Given the description of an element on the screen output the (x, y) to click on. 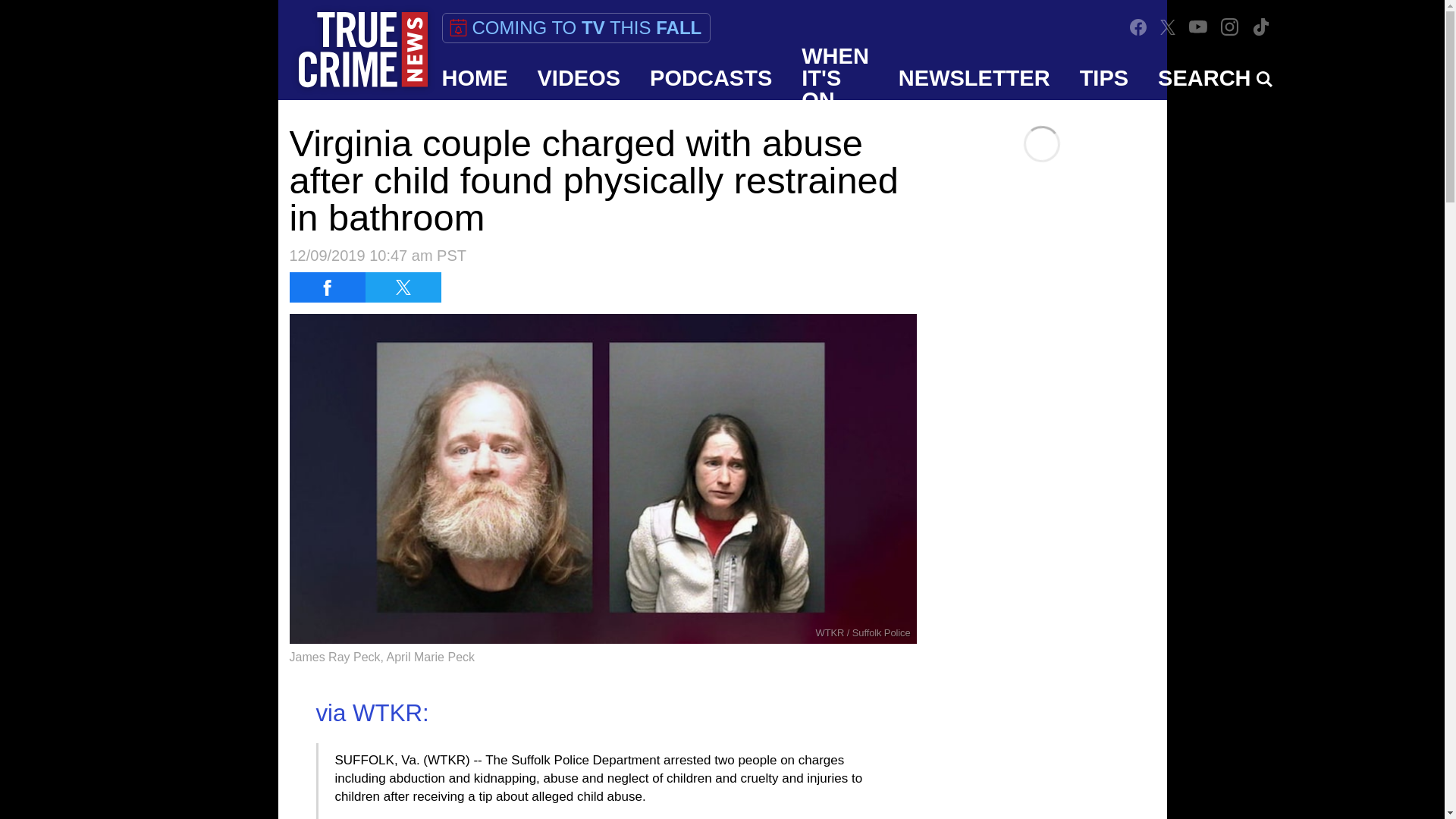
TIPS (1103, 77)
TikTok (1260, 26)
Facebook (1138, 26)
YouTube (1198, 26)
Instagram (1230, 27)
TikTok (1260, 27)
Instagram (1229, 26)
COMING TO TV THIS FALL (575, 28)
True Crime News (363, 49)
PODCASTS (710, 77)
WHEN IT'S ON (835, 77)
Twitter (1167, 27)
True Crime News (363, 49)
Facebook (1137, 27)
HOME (475, 77)
